Given the description of an element on the screen output the (x, y) to click on. 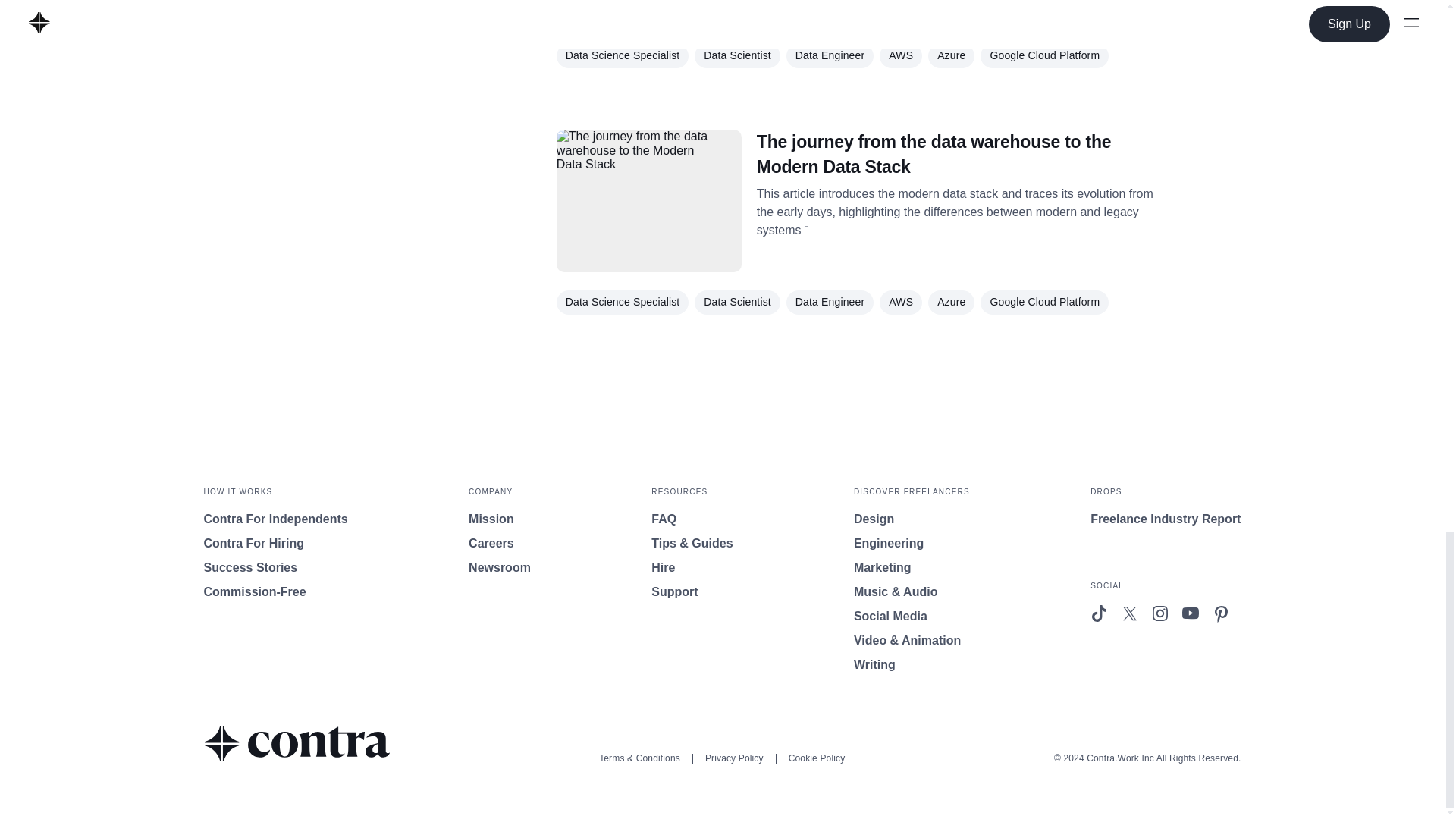
Contra For Hiring (275, 543)
Contra For Independents (275, 519)
The journey from the data warehouse to the Modern Data Stack (957, 153)
